Given the description of an element on the screen output the (x, y) to click on. 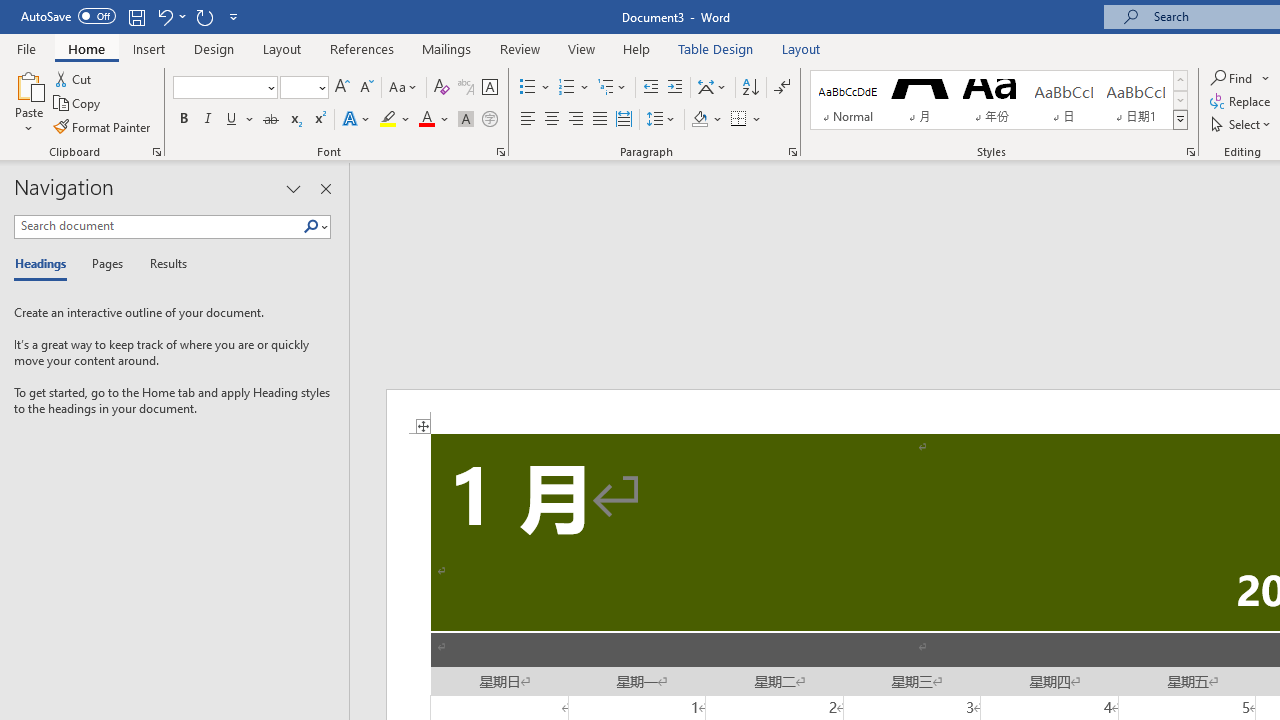
Font Color (434, 119)
Bold (183, 119)
Class: NetUIImage (1181, 119)
Character Border (489, 87)
Numbering (566, 87)
Search document (157, 226)
Repeat Doc Close (204, 15)
Design (214, 48)
Font Color RGB(255, 0, 0) (426, 119)
Shading RGB(0, 0, 0) (699, 119)
Layout (801, 48)
Paragraph... (792, 151)
File Tab (26, 48)
Text Highlight Color Yellow (388, 119)
